Given the description of an element on the screen output the (x, y) to click on. 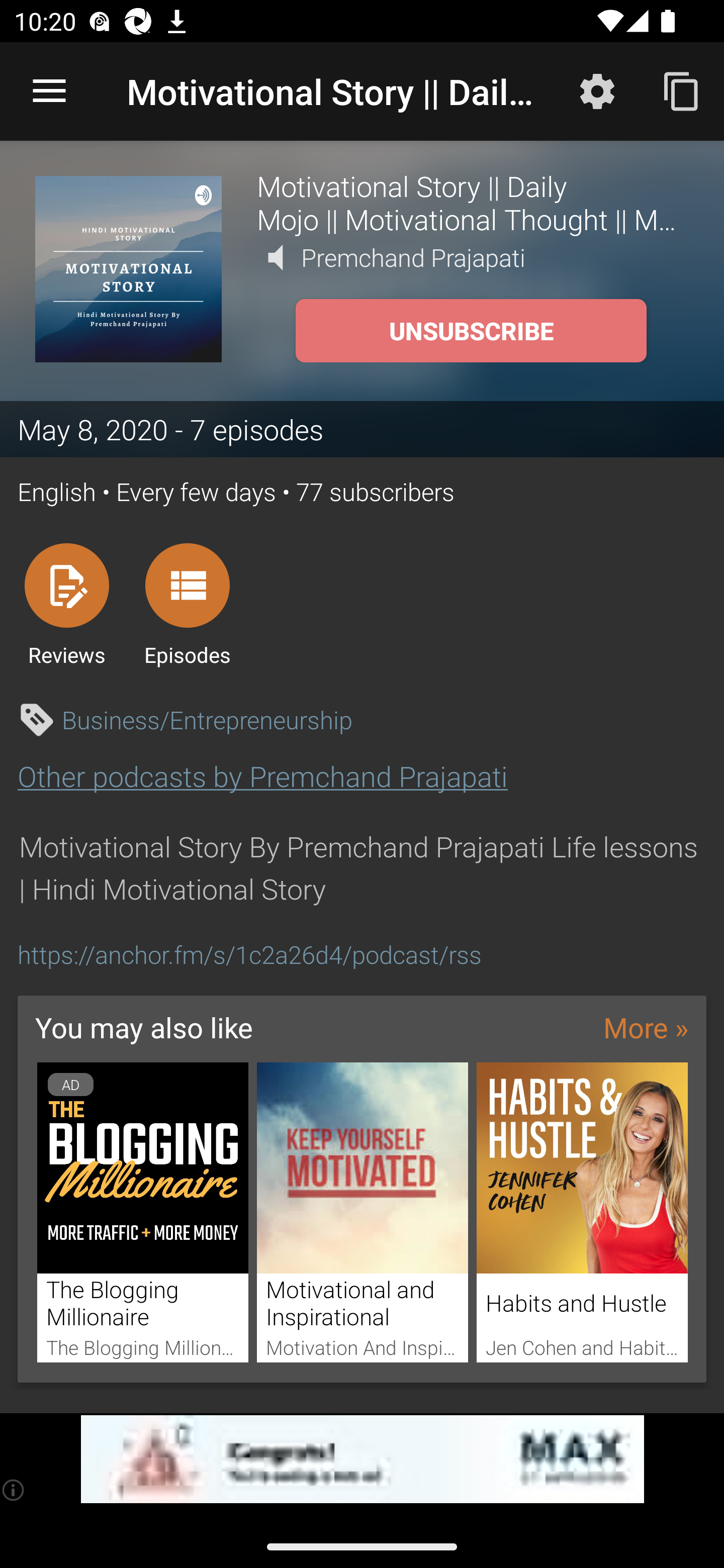
Open navigation sidebar (49, 91)
Settings (597, 90)
Copy feed url to clipboard (681, 90)
UNSUBSCRIBE (470, 330)
Reviews (66, 604)
Episodes (187, 604)
Other podcasts by Premchand Prajapati (262, 775)
More » (645, 1026)
Habits and Hustle Jen Cohen and Habit Nest (581, 1212)
app-monetization (362, 1459)
(i) (14, 1489)
